Given the description of an element on the screen output the (x, y) to click on. 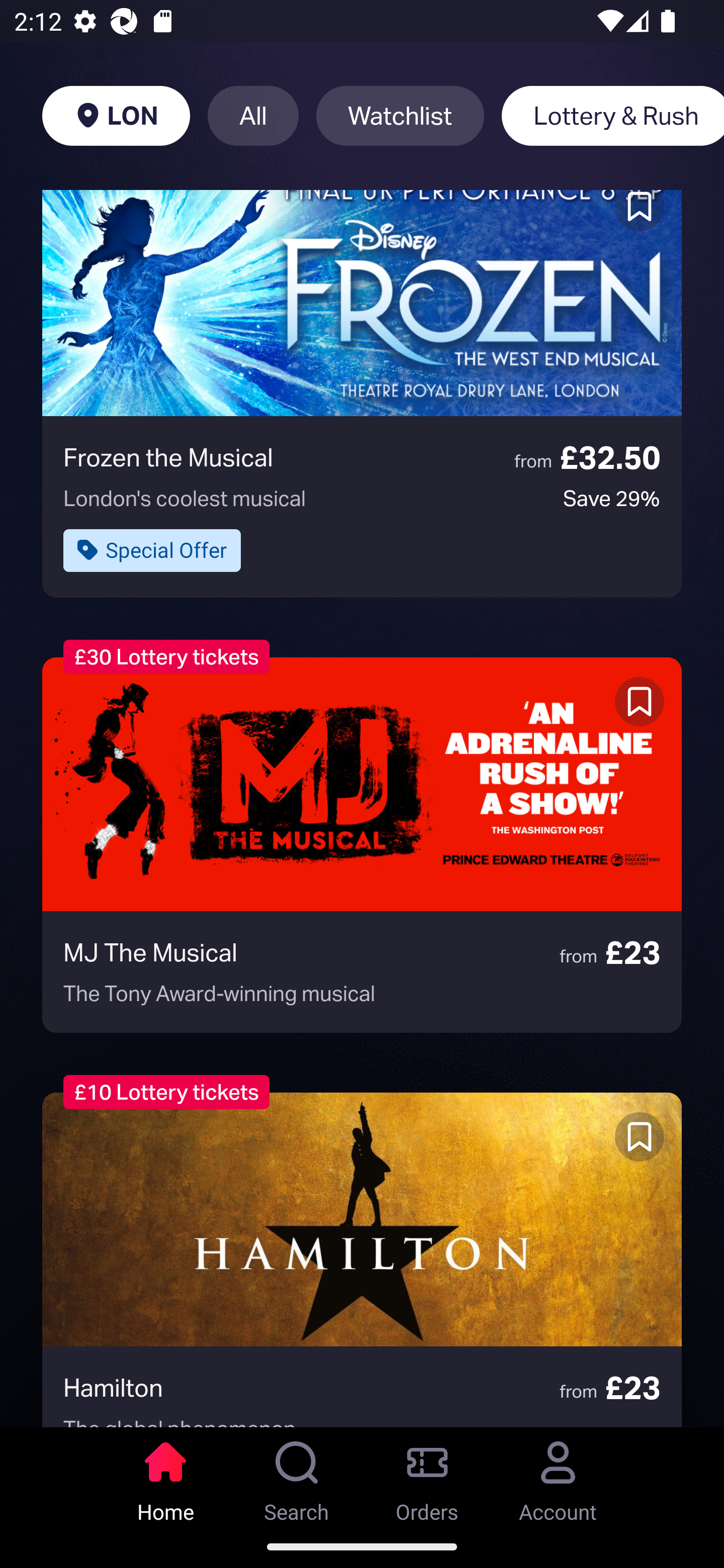
LON (115, 115)
All (252, 115)
Watchlist (400, 115)
Lottery & Rush (612, 115)
Hamilton from £23 The global phenomenon (361, 1259)
Search (296, 1475)
Orders (427, 1475)
Account (558, 1475)
